Given the description of an element on the screen output the (x, y) to click on. 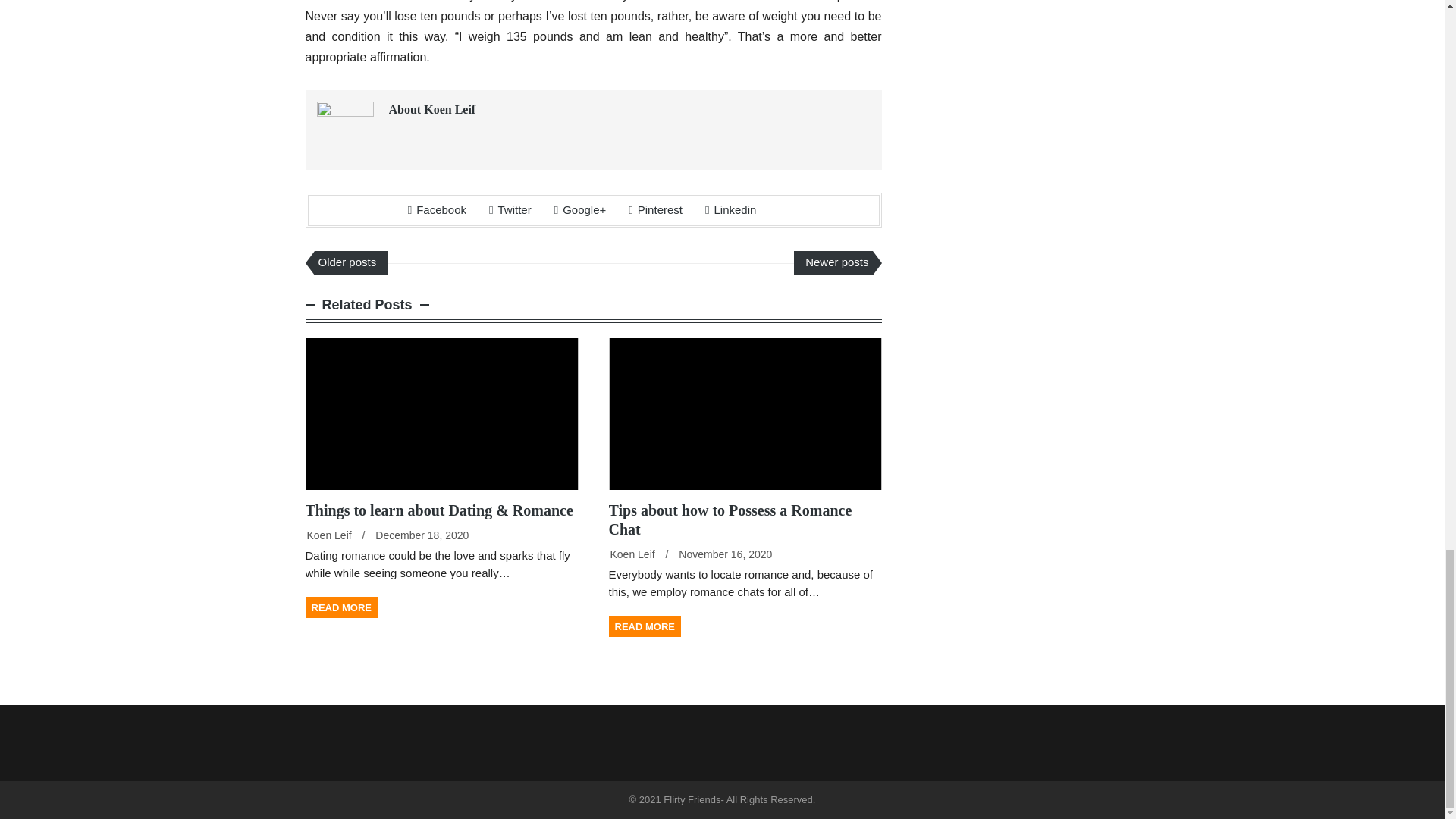
Twitter (510, 209)
Koen Leif (327, 535)
Posts by Koen Leif (327, 535)
Koen Leif (631, 553)
Tips about how to Possess a Romance Chat (729, 519)
READ MORE (340, 607)
Older posts (350, 262)
Facebook (436, 209)
Pinterest (655, 209)
Newer posts (832, 262)
